Given the description of an element on the screen output the (x, y) to click on. 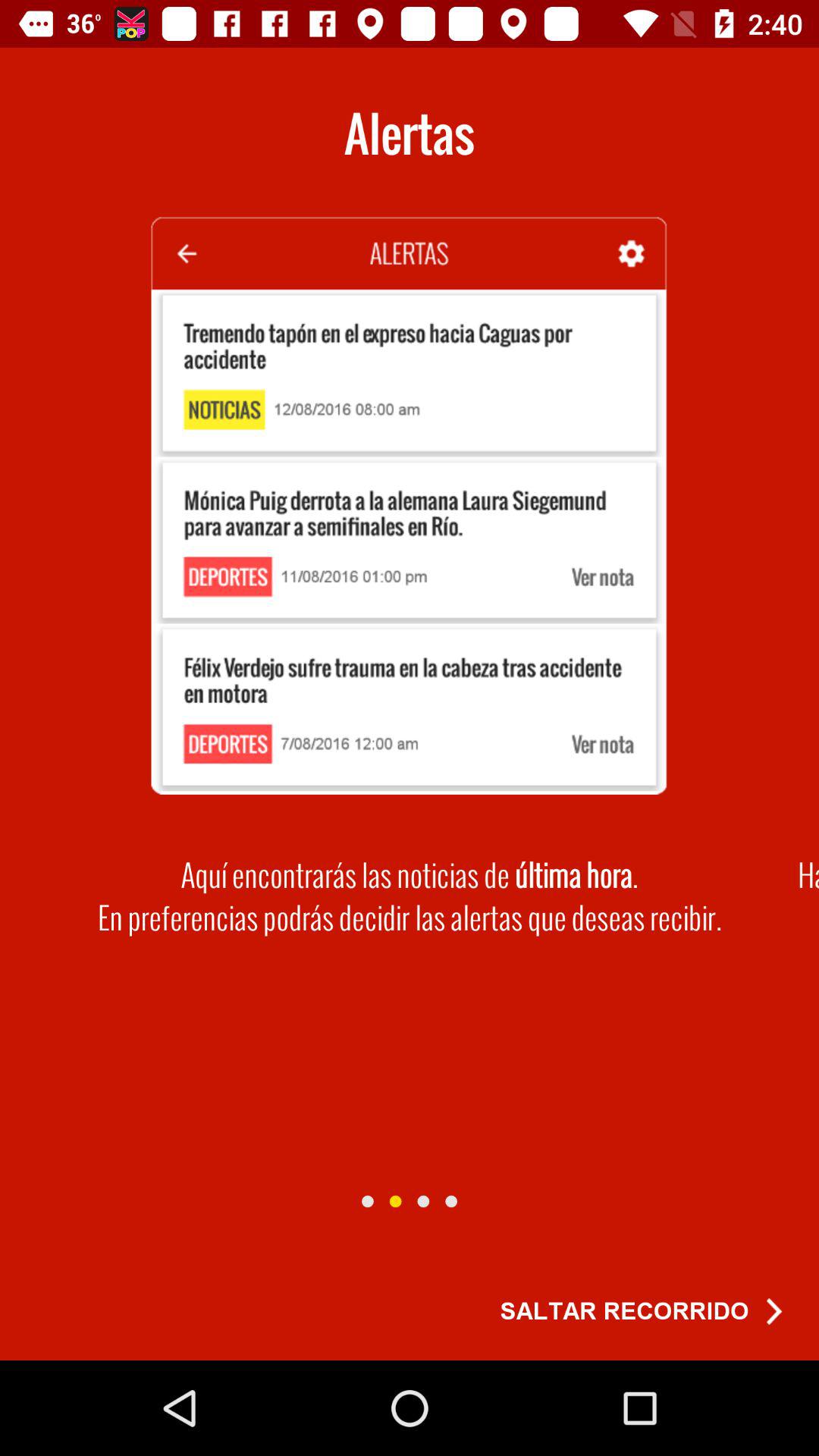
go to next (395, 1201)
